Given the description of an element on the screen output the (x, y) to click on. 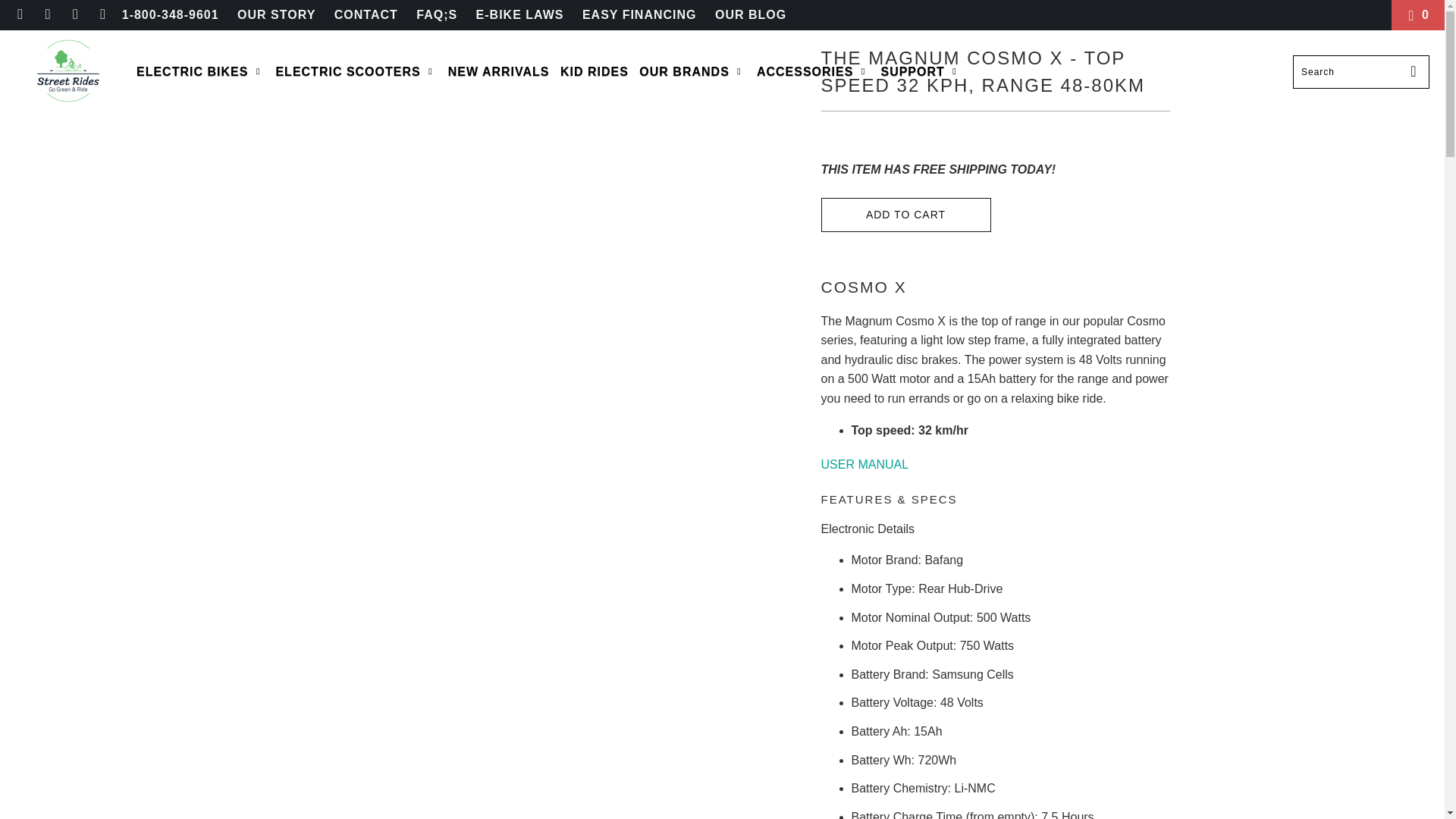
Street Rides on Pinterest (47, 14)
Street Rides (67, 71)
Email Street Rides (102, 14)
Street Rides on Instagram (74, 14)
Street Rides on Facebook (19, 14)
USER MANUAL (864, 463)
